Given the description of an element on the screen output the (x, y) to click on. 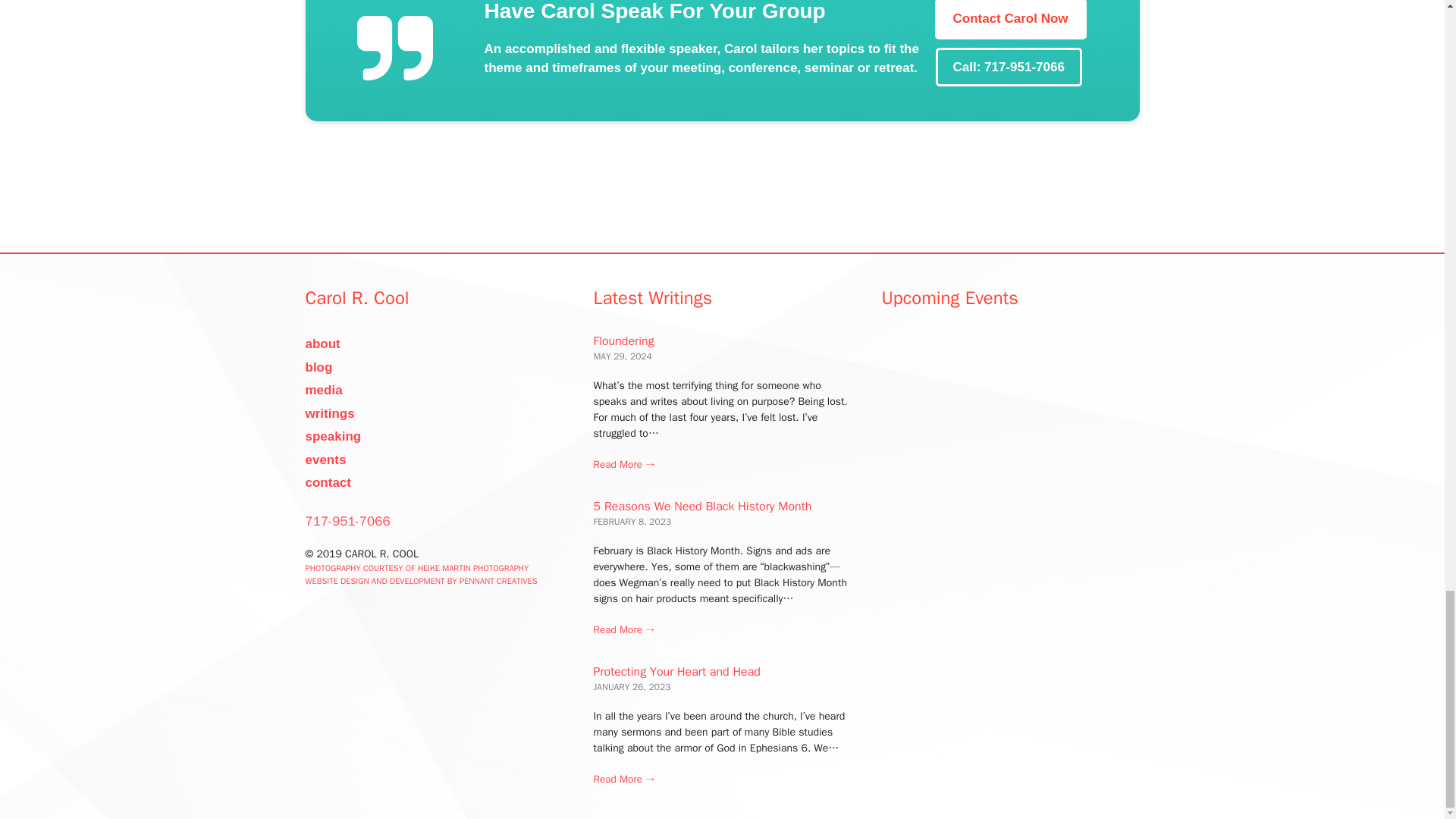
speaking (332, 436)
Call: 717-951-7066 (1007, 66)
WEBSITE DESIGN AND DEVELOPMENT BY PENNANT CREATIVES (422, 581)
media (323, 390)
11:13 pm (631, 521)
9:40 pm (621, 356)
writings (328, 413)
Protecting Your Heart and Head (622, 780)
717-951-7066 (347, 521)
about (321, 343)
